Given the description of an element on the screen output the (x, y) to click on. 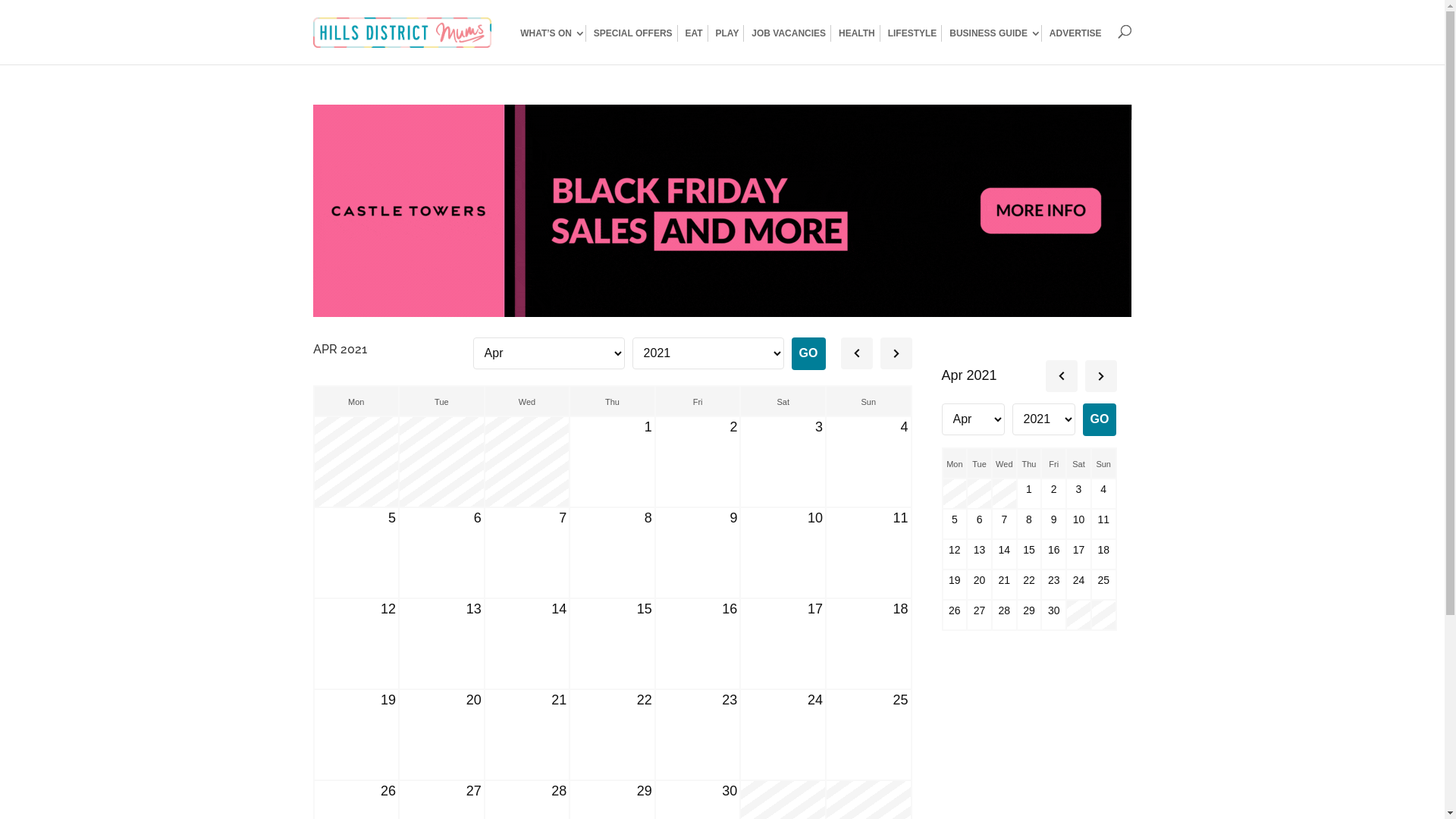
EAT Element type: text (696, 33)
LIFESTYLE Element type: text (915, 33)
JOB VACANCIES Element type: text (791, 33)
HEALTH Element type: text (859, 33)
SPECIAL OFFERS Element type: text (635, 33)
ADVERTISE Element type: text (1075, 33)
PLAY Element type: text (729, 33)
BUSINESS GUIDE Element type: text (995, 33)
